Given the description of an element on the screen output the (x, y) to click on. 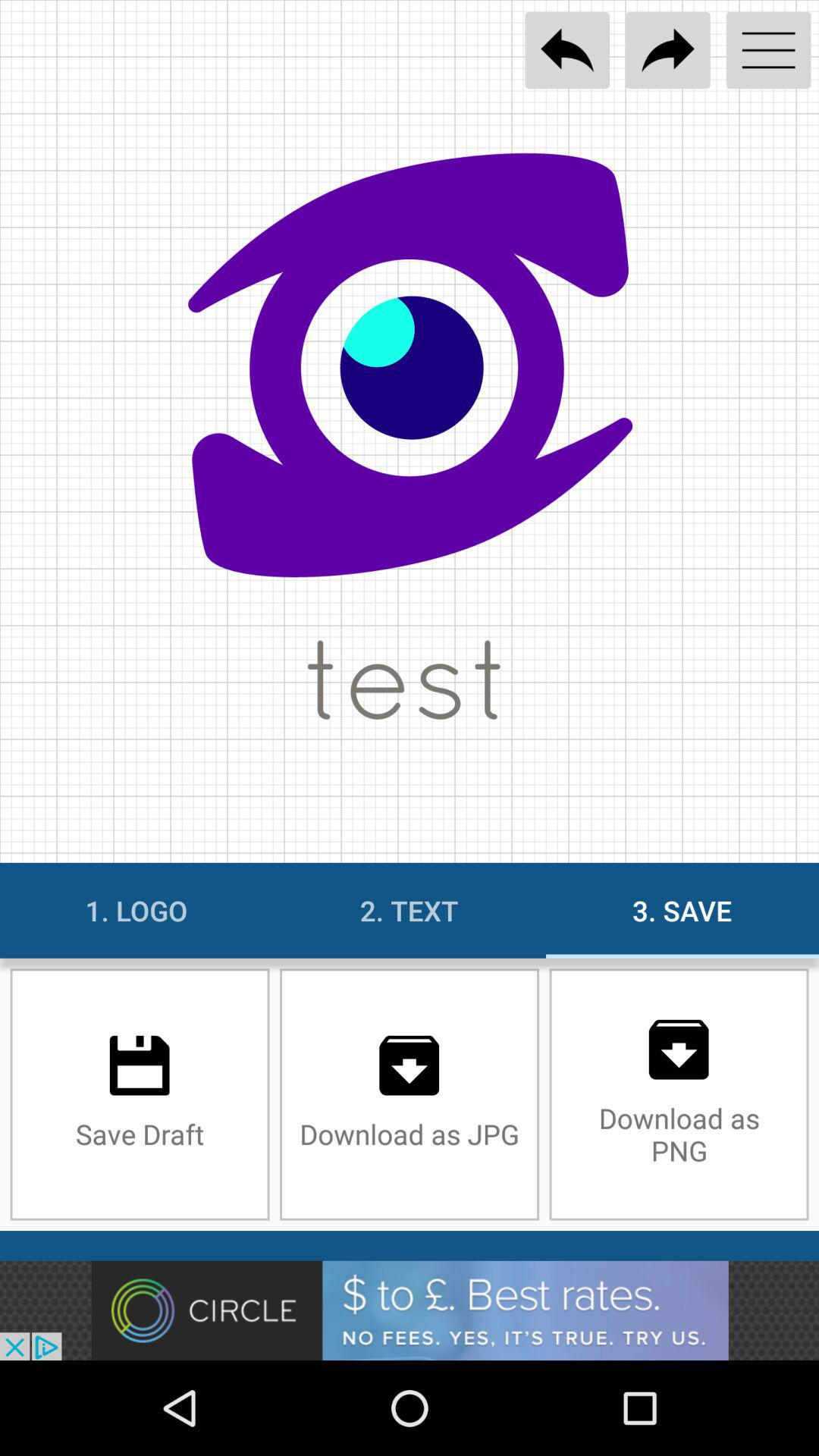
know about the advertisement (409, 1310)
